Given the description of an element on the screen output the (x, y) to click on. 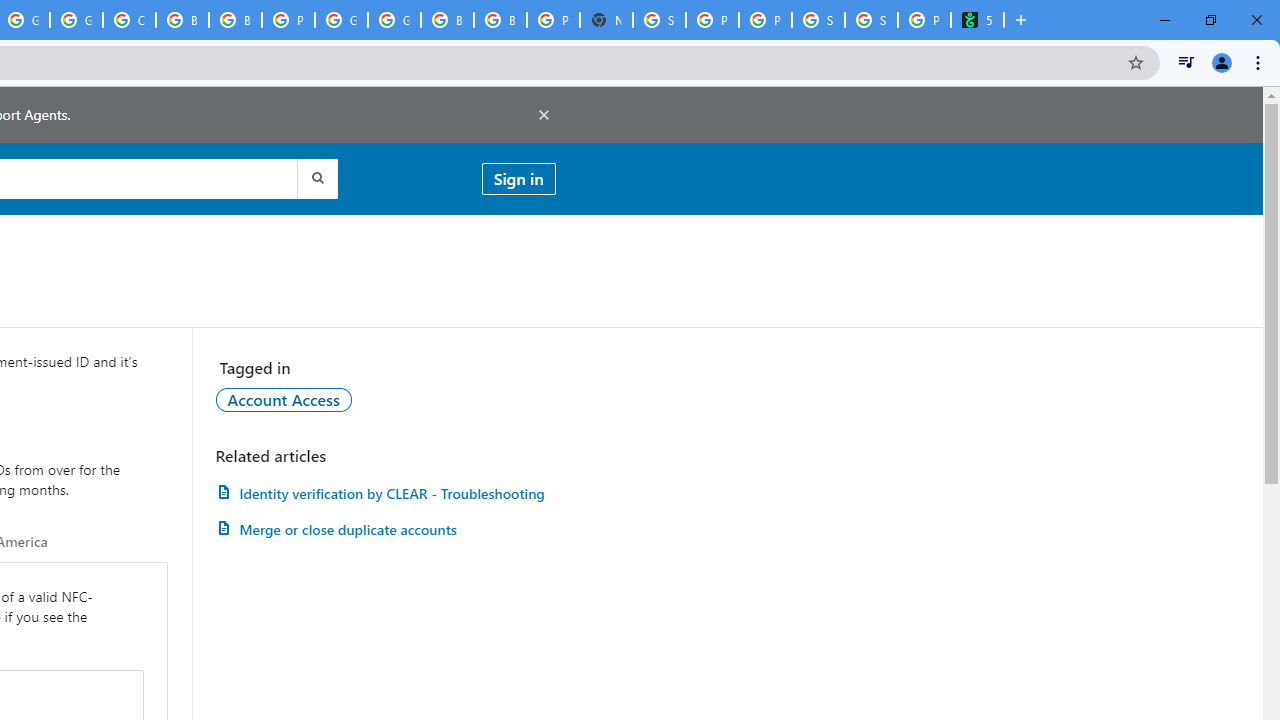
Close (1256, 20)
Account Access (283, 399)
Identity verification by CLEAR - Troubleshooting (385, 493)
AutomationID: article-link-a1337200 (385, 529)
Google Cloud Platform (394, 20)
Restore (1210, 20)
AutomationID: topic-link-a151002 (283, 399)
AutomationID: article-link-a1457505 (385, 493)
Browse Chrome as a guest - Computer - Google Chrome Help (500, 20)
Control your music, videos, and more (1185, 62)
Browse Chrome as a guest - Computer - Google Chrome Help (182, 20)
